Given the description of an element on the screen output the (x, y) to click on. 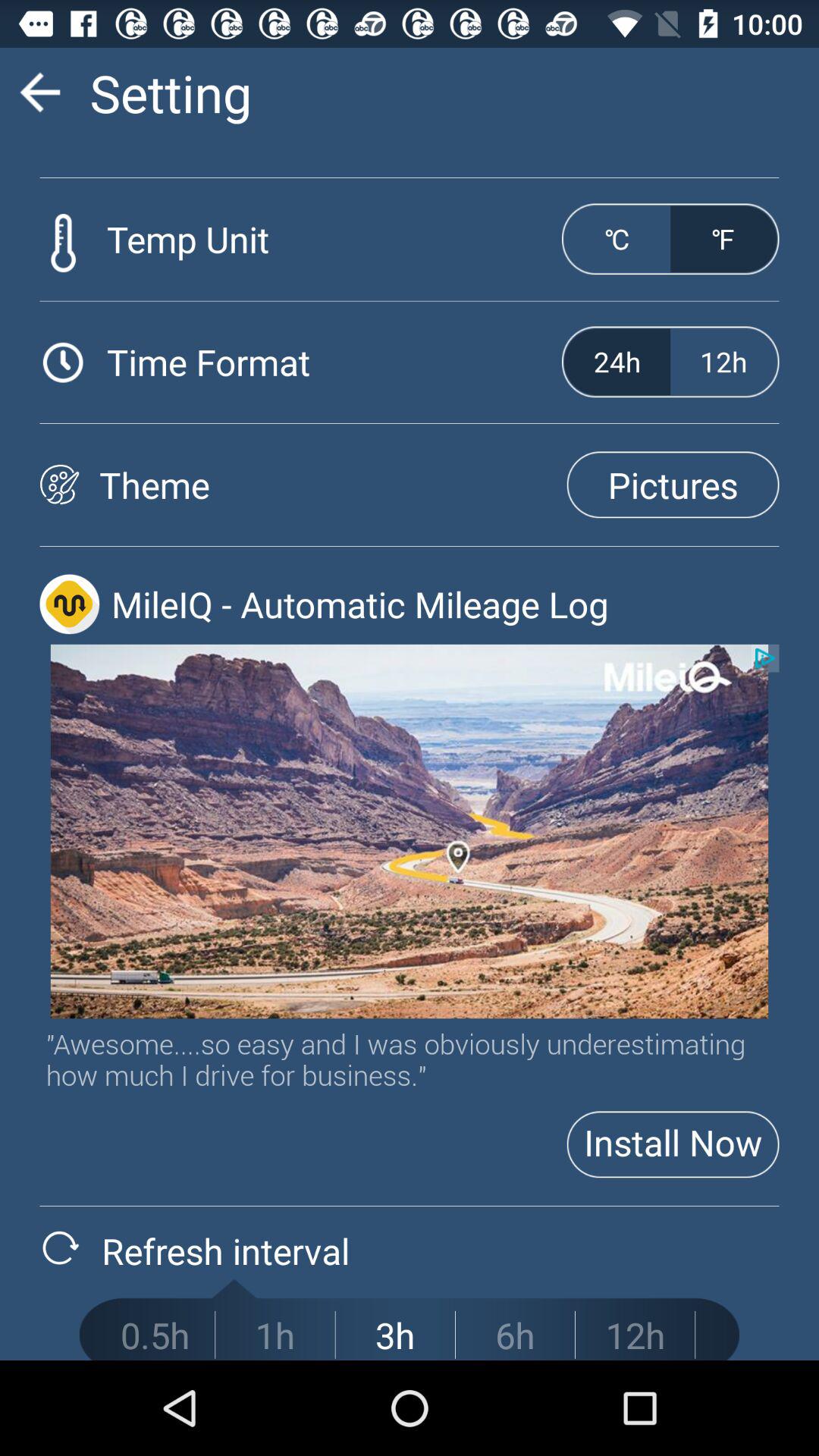
location (409, 831)
